Given the description of an element on the screen output the (x, y) to click on. 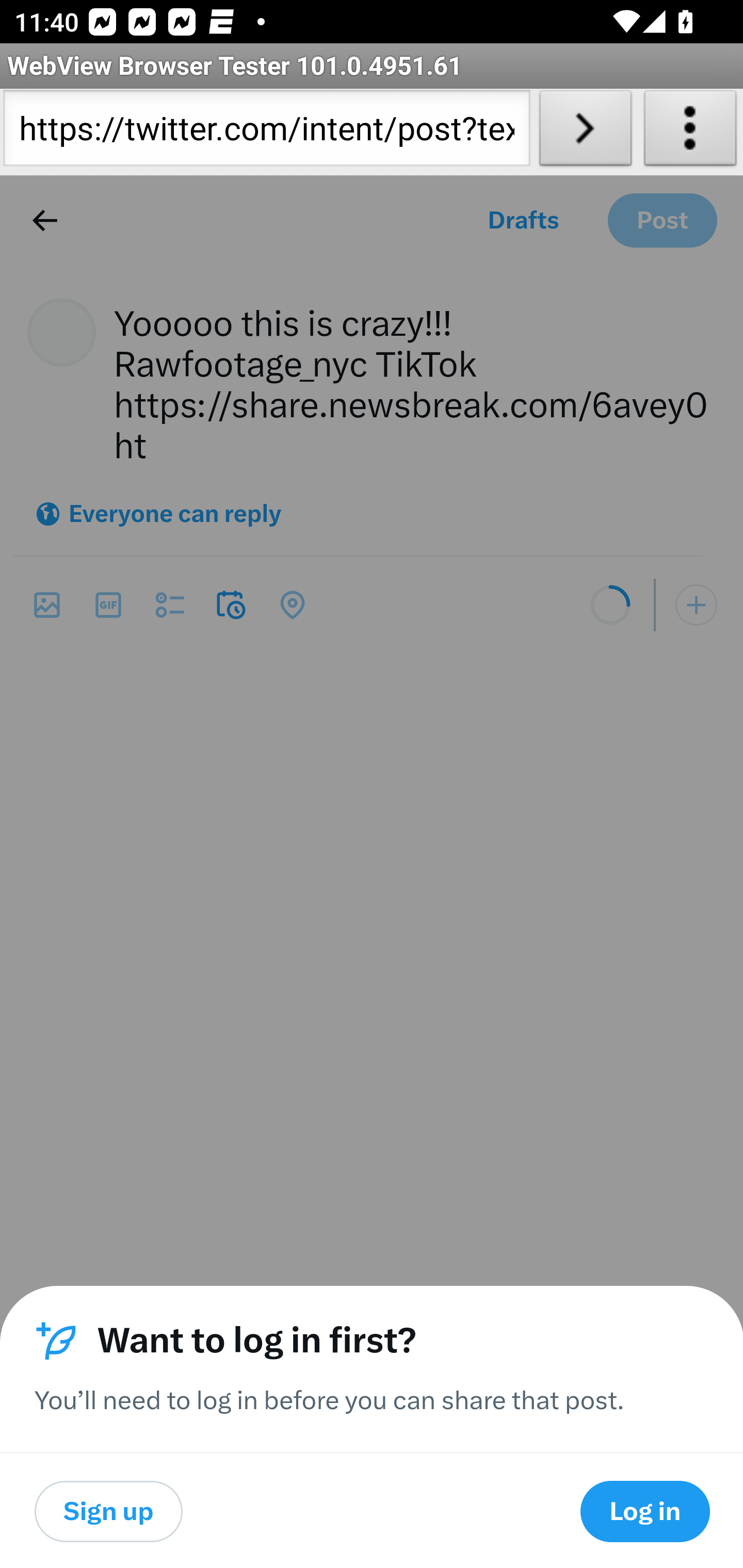
Load URL (585, 132)
About WebView (690, 132)
